Given the description of an element on the screen output the (x, y) to click on. 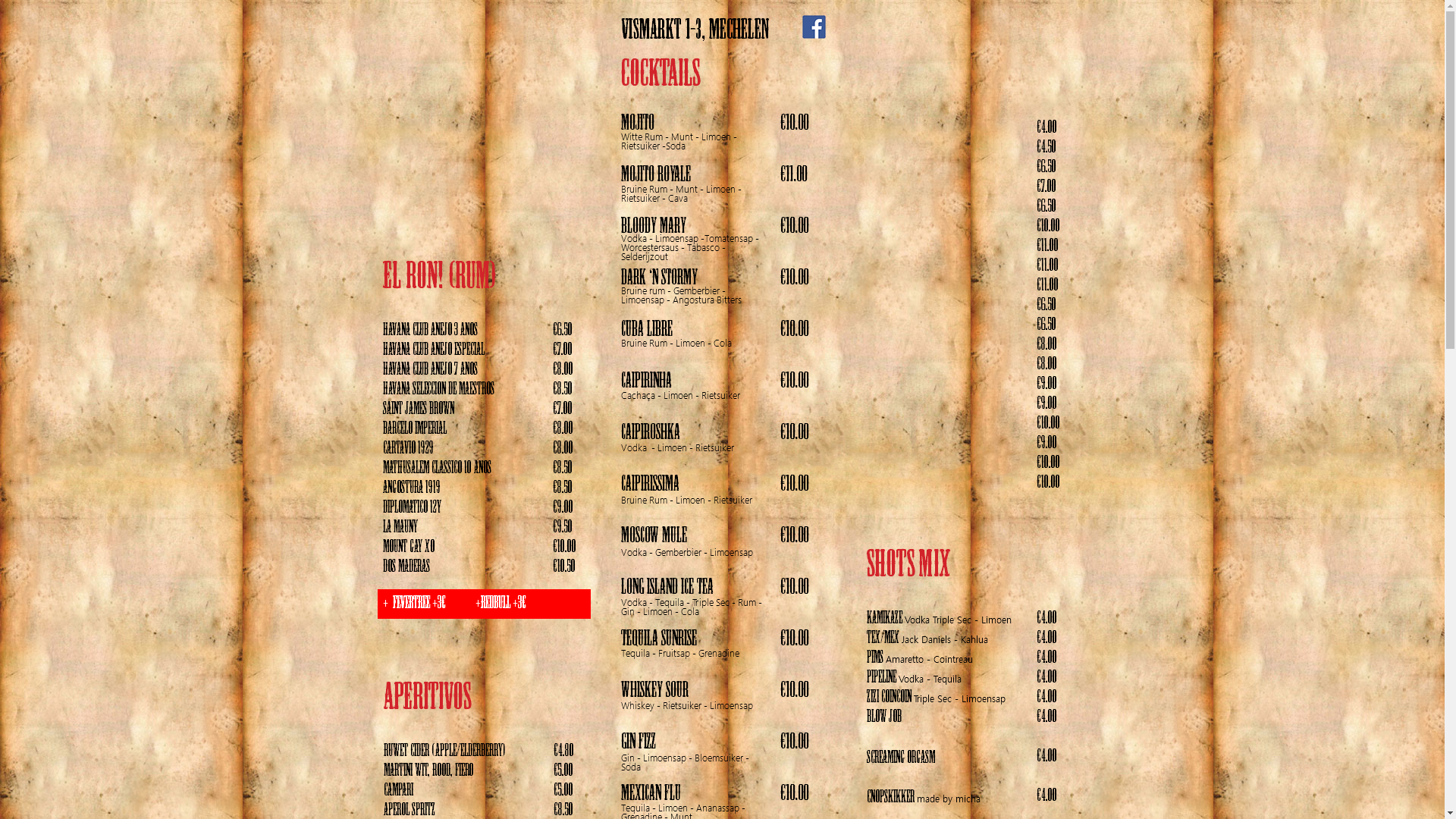
Facebook Element type: hover (813, 26)
